Given the description of an element on the screen output the (x, y) to click on. 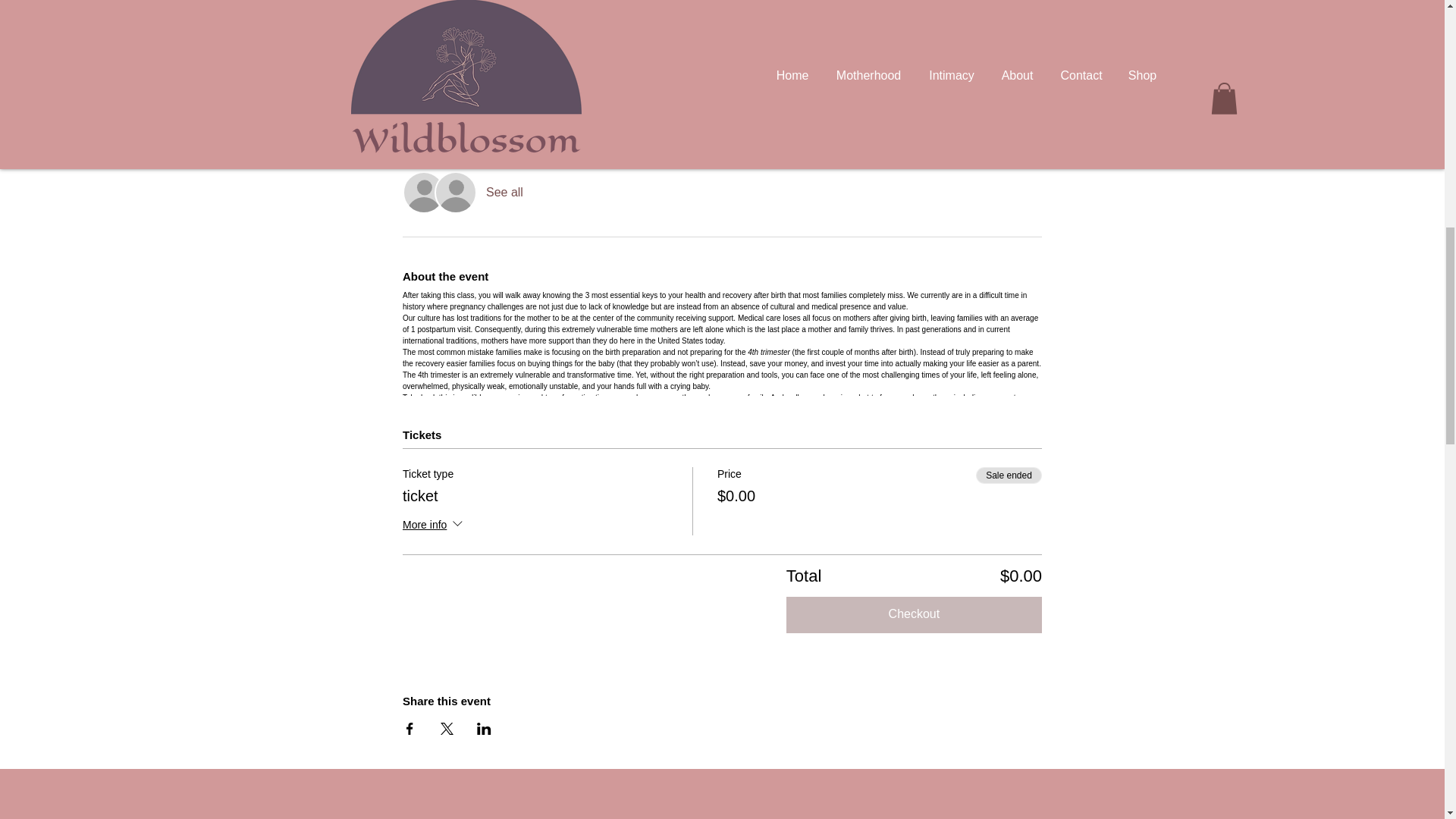
More info (434, 525)
See all (504, 192)
Checkout (914, 615)
